Given the description of an element on the screen output the (x, y) to click on. 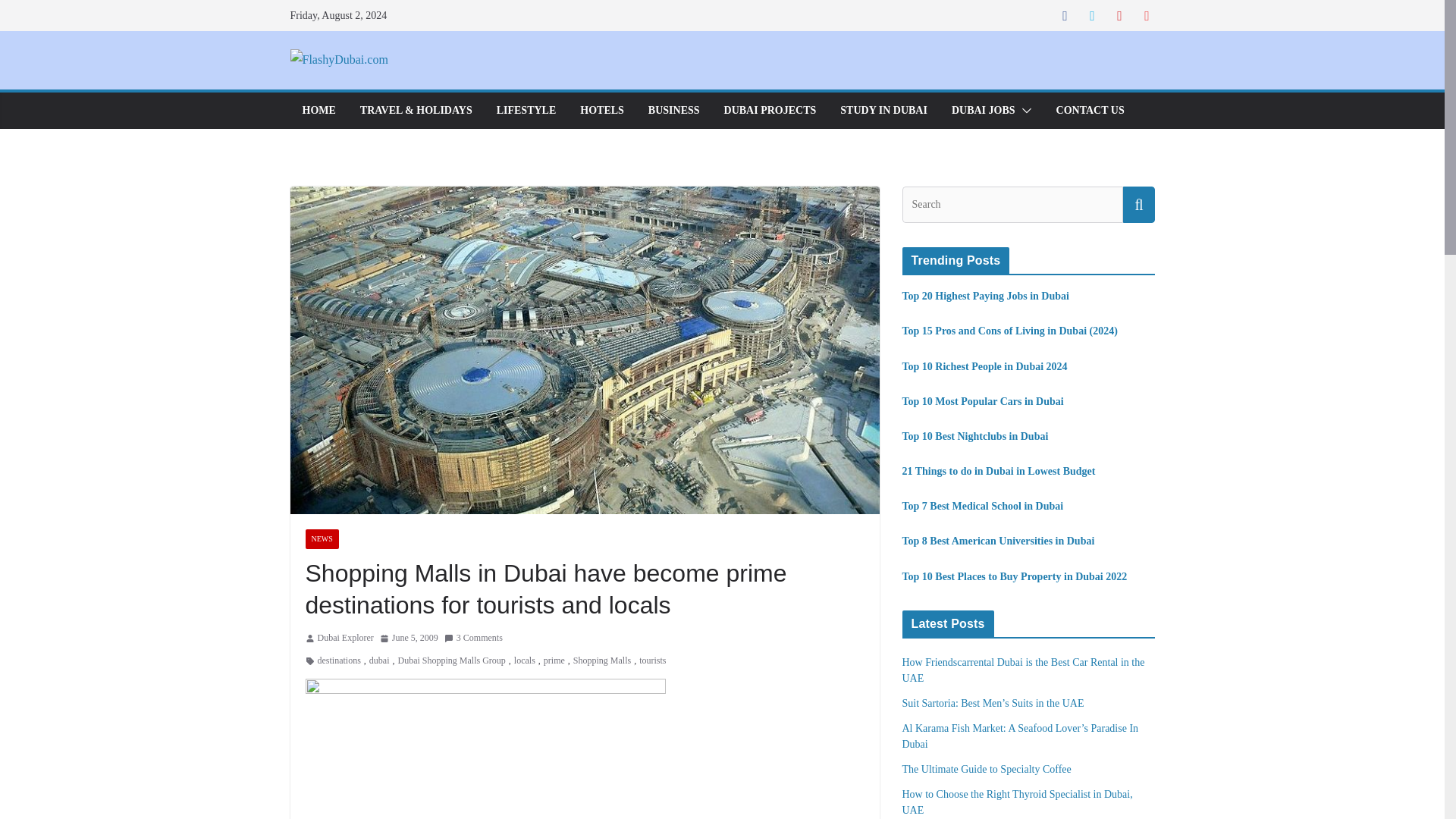
Dubai Explorer (344, 638)
3 Comments (473, 638)
locals (524, 660)
LIFESTYLE (526, 110)
6:41 am (409, 638)
June 5, 2009 (409, 638)
destinations (338, 660)
Dubai Explorer (344, 638)
tourists (652, 660)
STUDY IN DUBAI (883, 110)
